Given the description of an element on the screen output the (x, y) to click on. 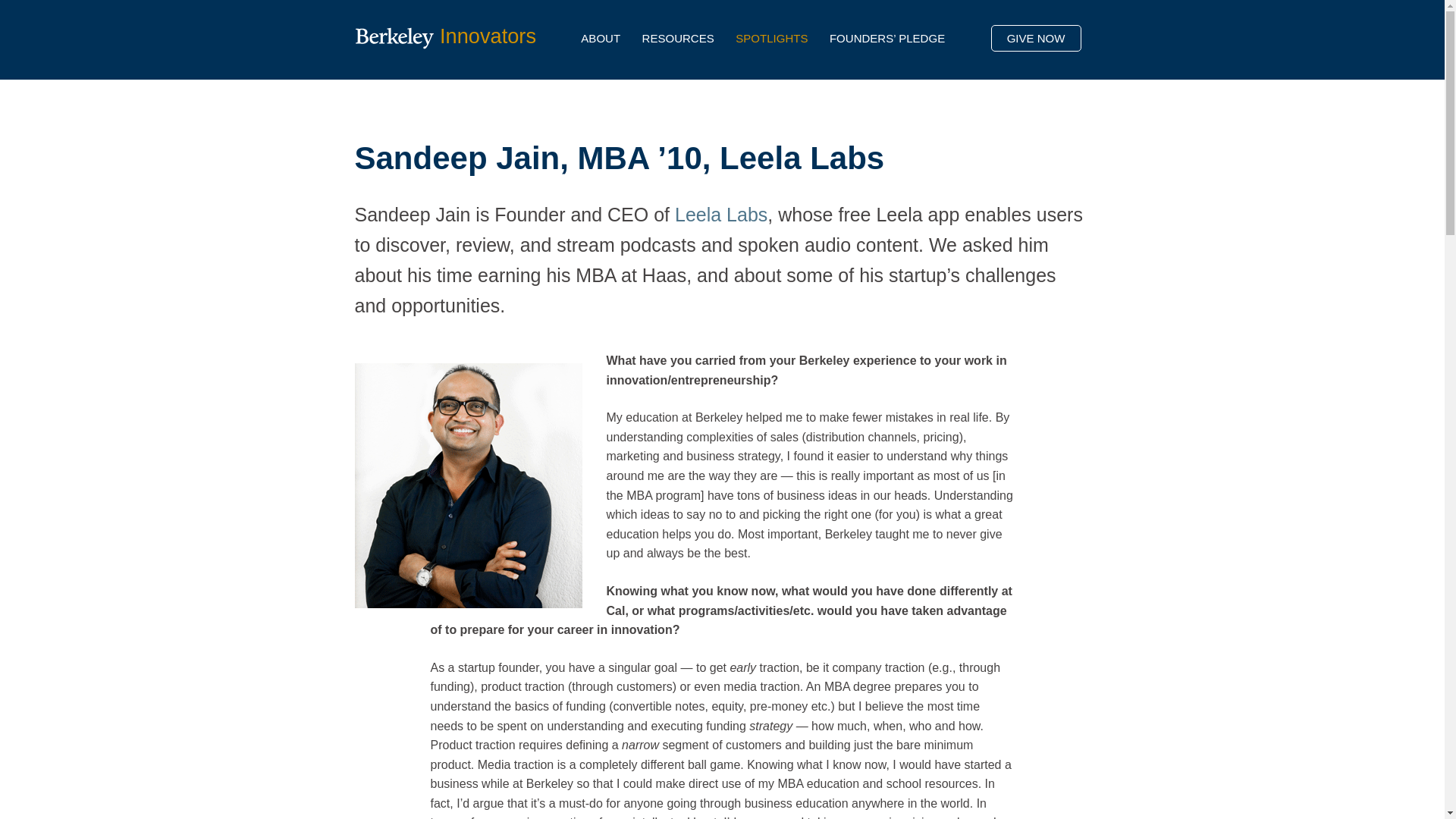
RESOURCES (678, 40)
GIVE NOW (1036, 38)
Leela Labs (721, 214)
SPOTLIGHTS (771, 40)
ABOUT (600, 40)
Berkeley Innovators (446, 32)
